Given the description of an element on the screen output the (x, y) to click on. 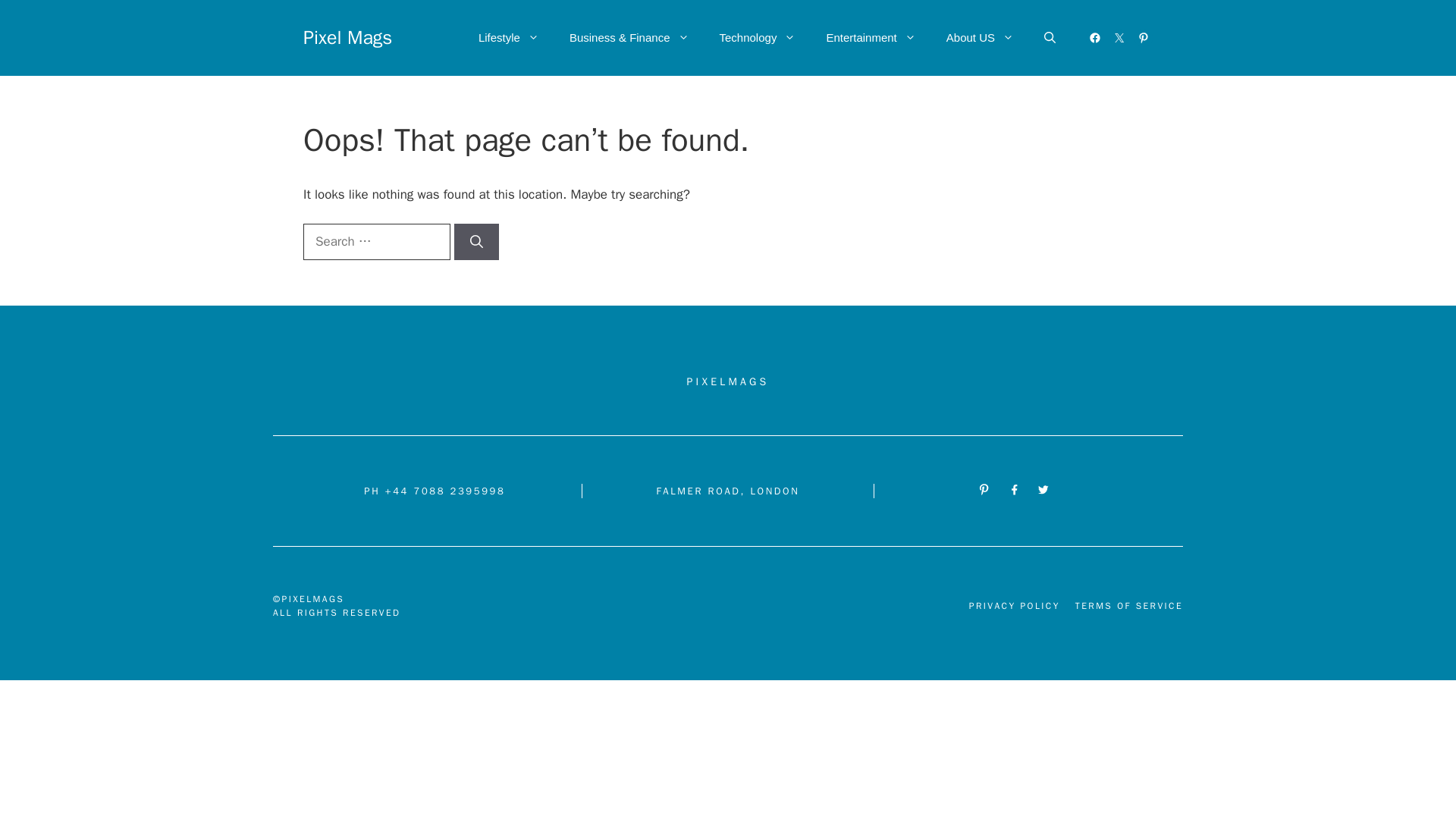
Facebook (1094, 37)
Entertainment (870, 37)
X (1118, 37)
Pixel Mags (346, 37)
Pinterest (1143, 37)
Technology (756, 37)
Search for: (375, 241)
About US (980, 37)
Lifestyle (508, 37)
